Given the description of an element on the screen output the (x, y) to click on. 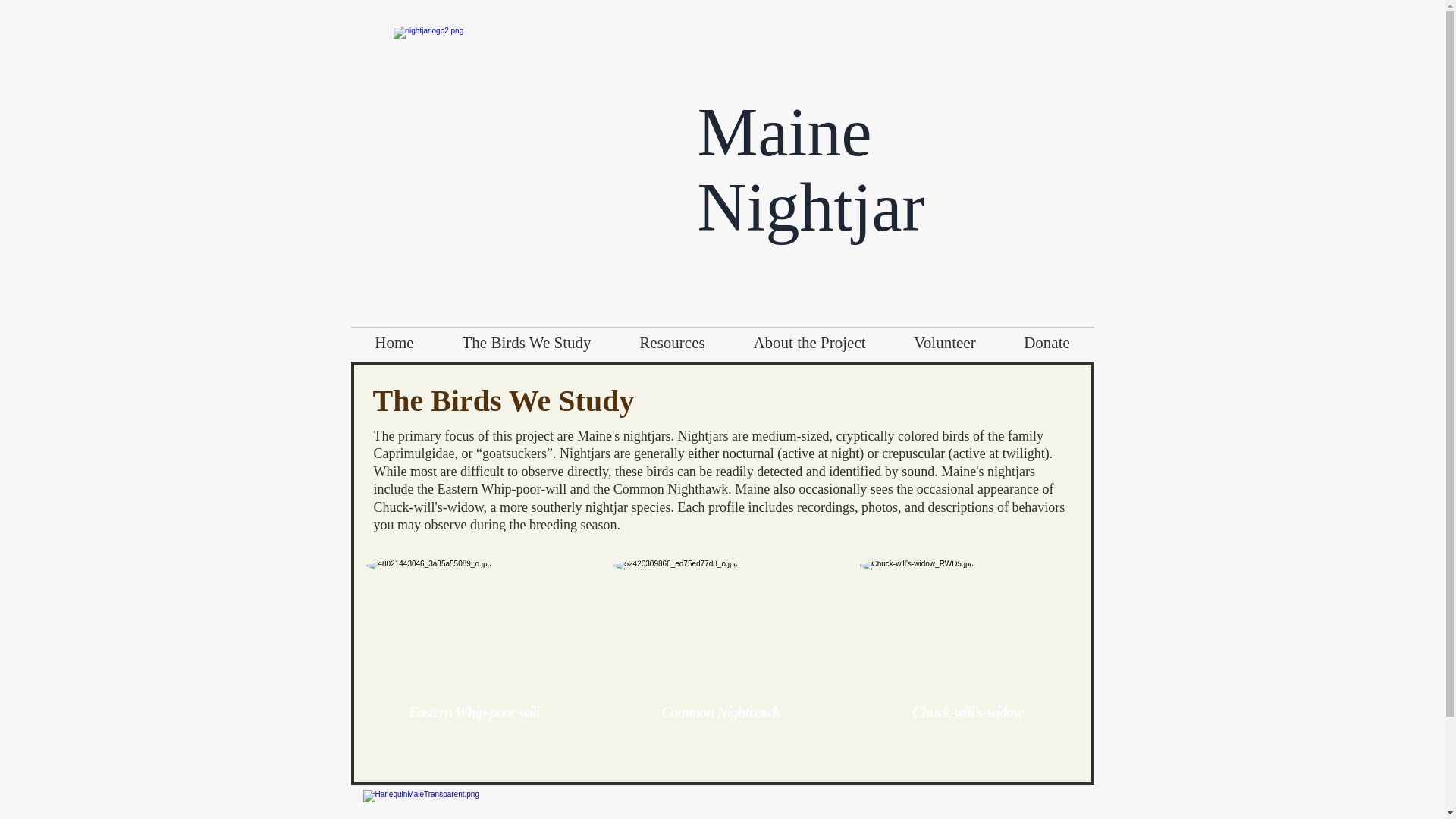
The Birds We Study (526, 342)
Home (394, 342)
Resources (672, 342)
Donate (1045, 342)
About the Project (809, 342)
Volunteer (944, 342)
